Given the description of an element on the screen output the (x, y) to click on. 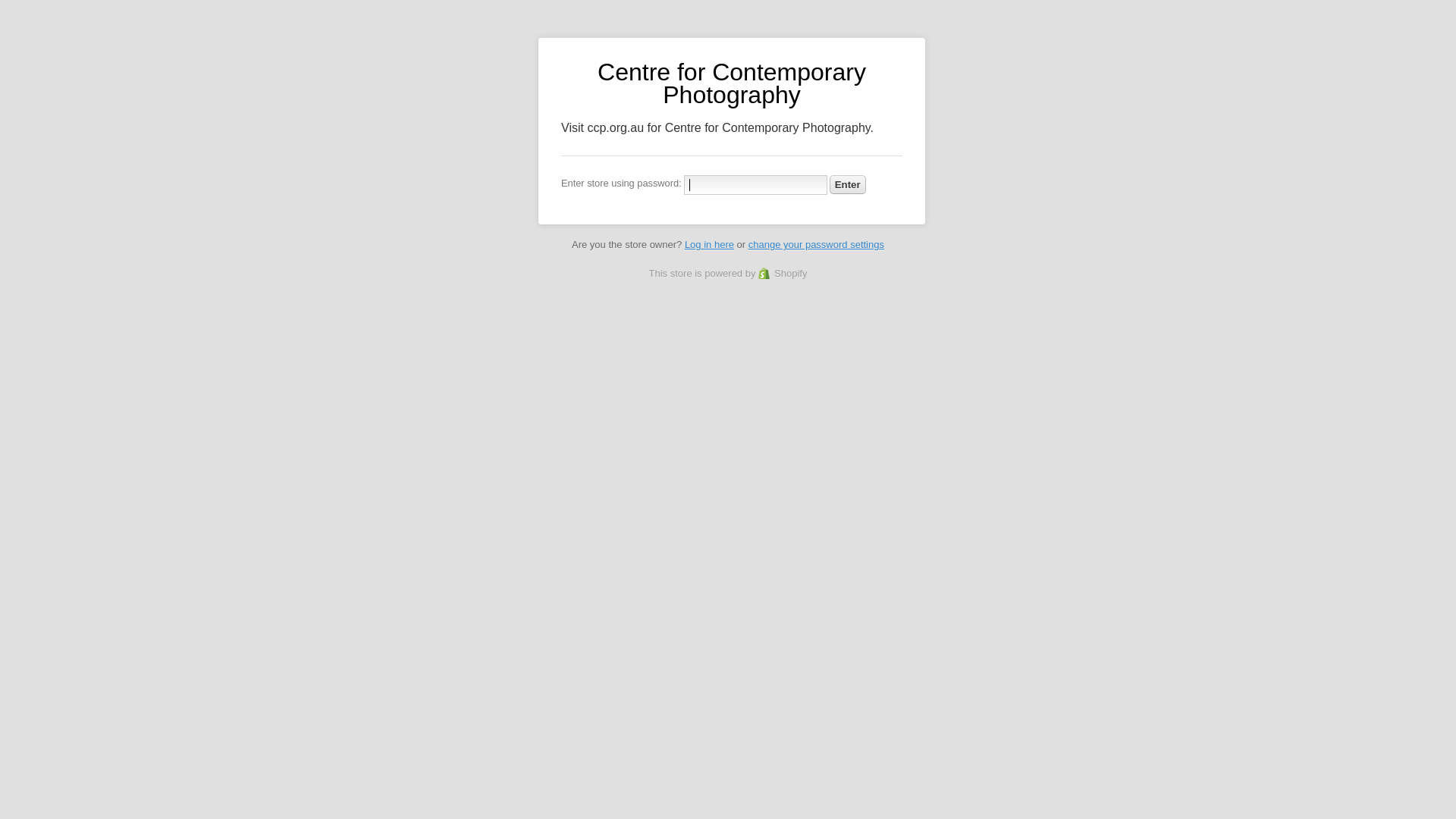
change your password settings Element type: text (816, 244)
Enter Element type: text (847, 184)
Shopify Element type: text (782, 273)
Log in here Element type: text (709, 244)
